Given the description of an element on the screen output the (x, y) to click on. 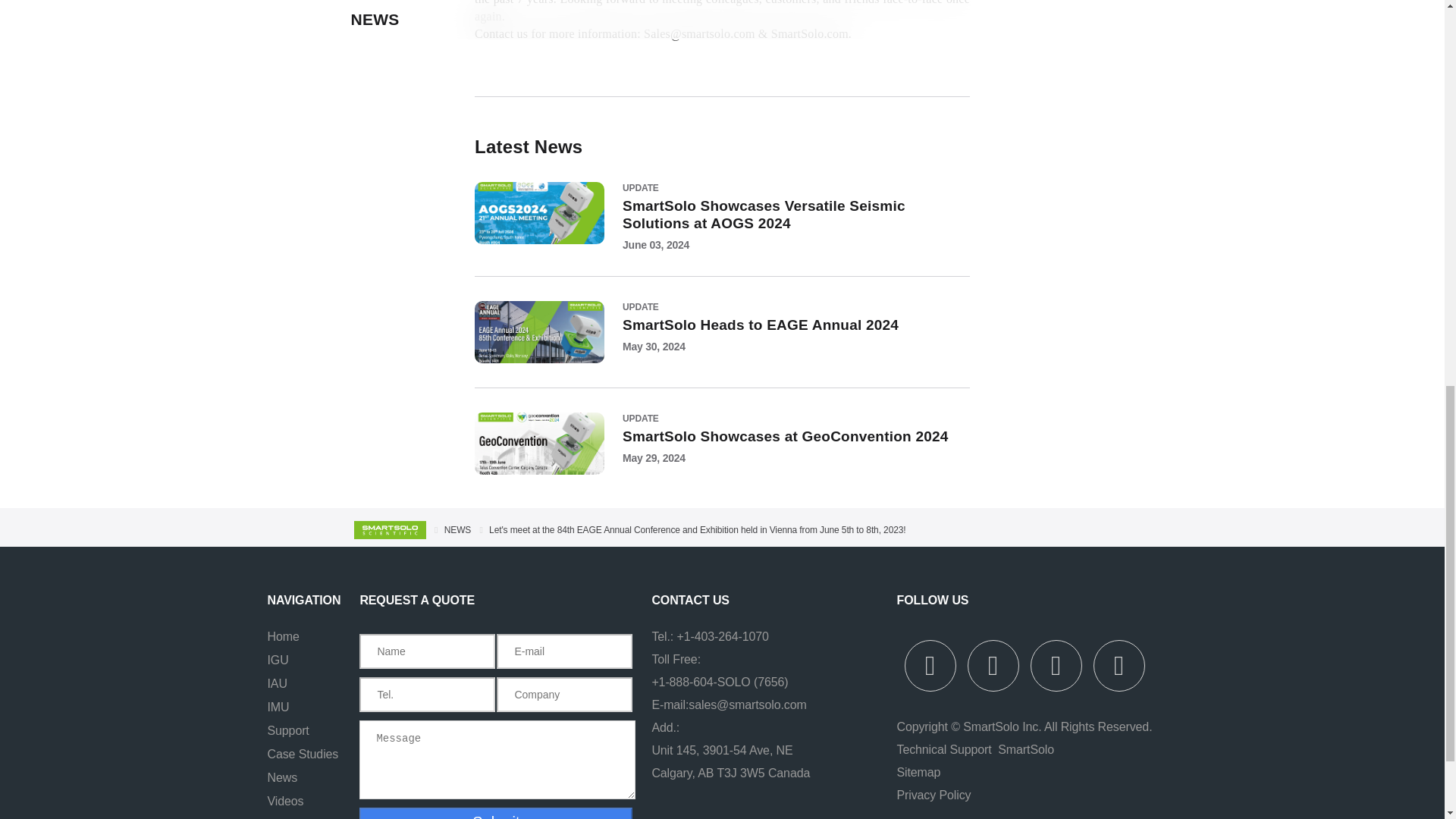
Privacy Policy (933, 794)
Case Studies (301, 753)
Home (282, 635)
News (281, 777)
Support (287, 730)
Videos (284, 800)
NEWS (457, 529)
IGU (277, 659)
CONTACT US (737, 600)
About Us (290, 818)
Submit (495, 813)
Sitemap (918, 771)
